Given the description of an element on the screen output the (x, y) to click on. 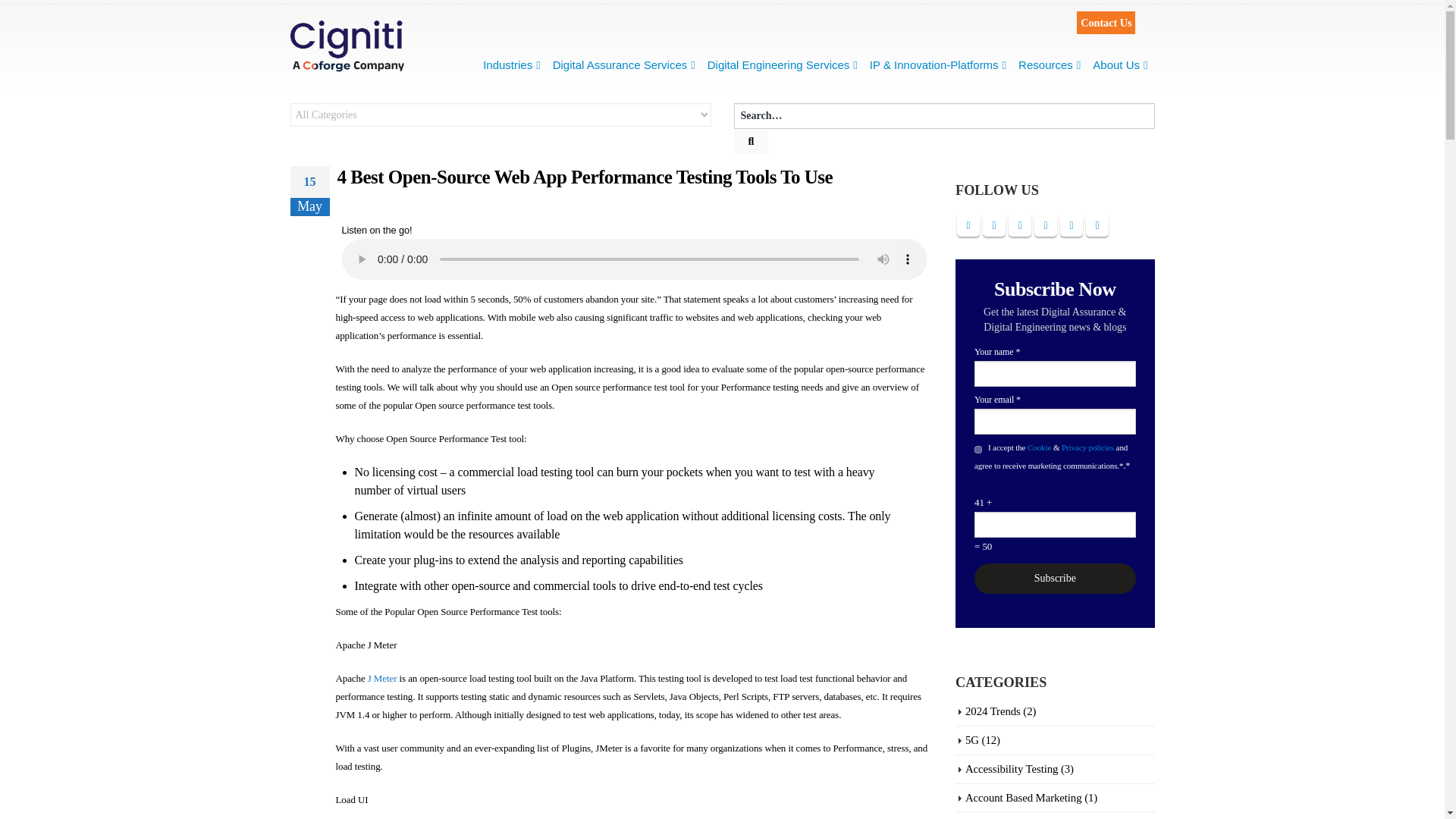
Instagram (1071, 224)
Search (750, 141)
1 (977, 449)
Youtube (1045, 224)
Industries (511, 64)
Twitter (994, 224)
Contact Us (1106, 22)
RSS (1019, 224)
Digital Assurance Services (623, 64)
Facebook (967, 224)
Subscribe (1054, 578)
